Given the description of an element on the screen output the (x, y) to click on. 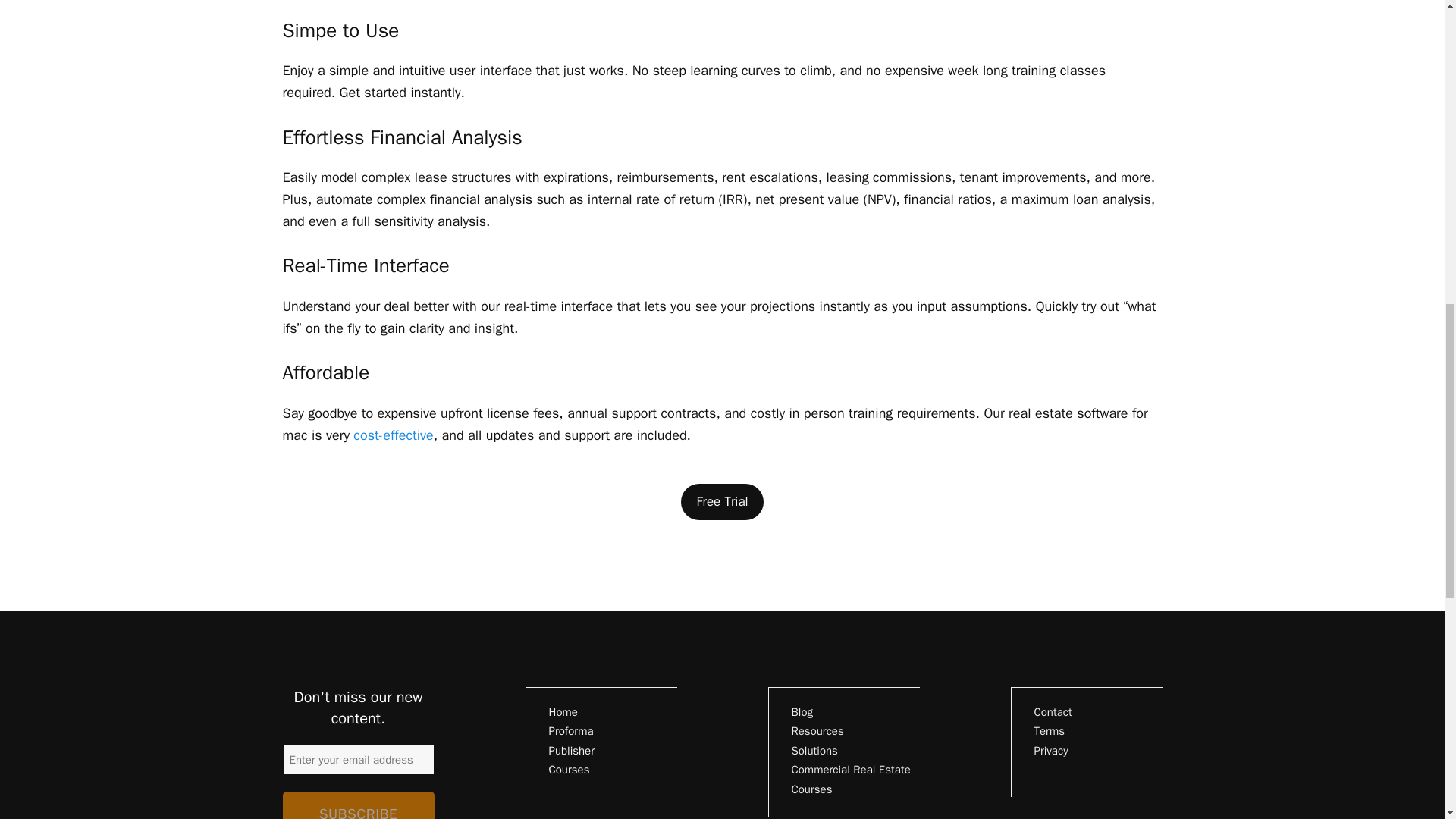
Proforma (571, 730)
Subscribe (357, 805)
Solutions (815, 750)
Blog (802, 712)
Free Trial (721, 501)
Home (563, 712)
Resources (818, 730)
Courses (568, 769)
Publisher (571, 750)
cost-effective (392, 434)
